Given the description of an element on the screen output the (x, y) to click on. 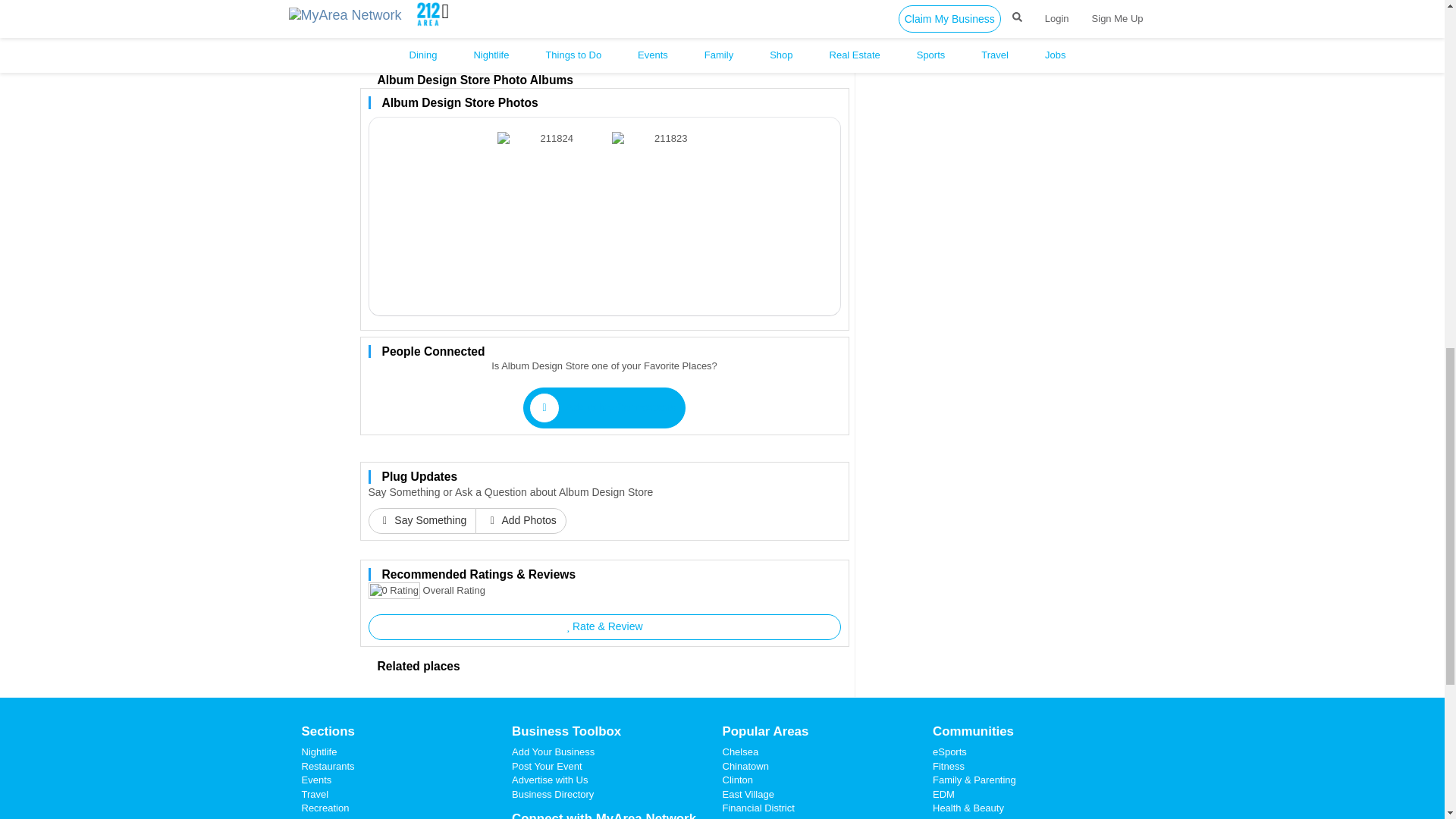
Add to My Connections (603, 407)
Add Photos (521, 520)
Say Something (422, 520)
